Given the description of an element on the screen output the (x, y) to click on. 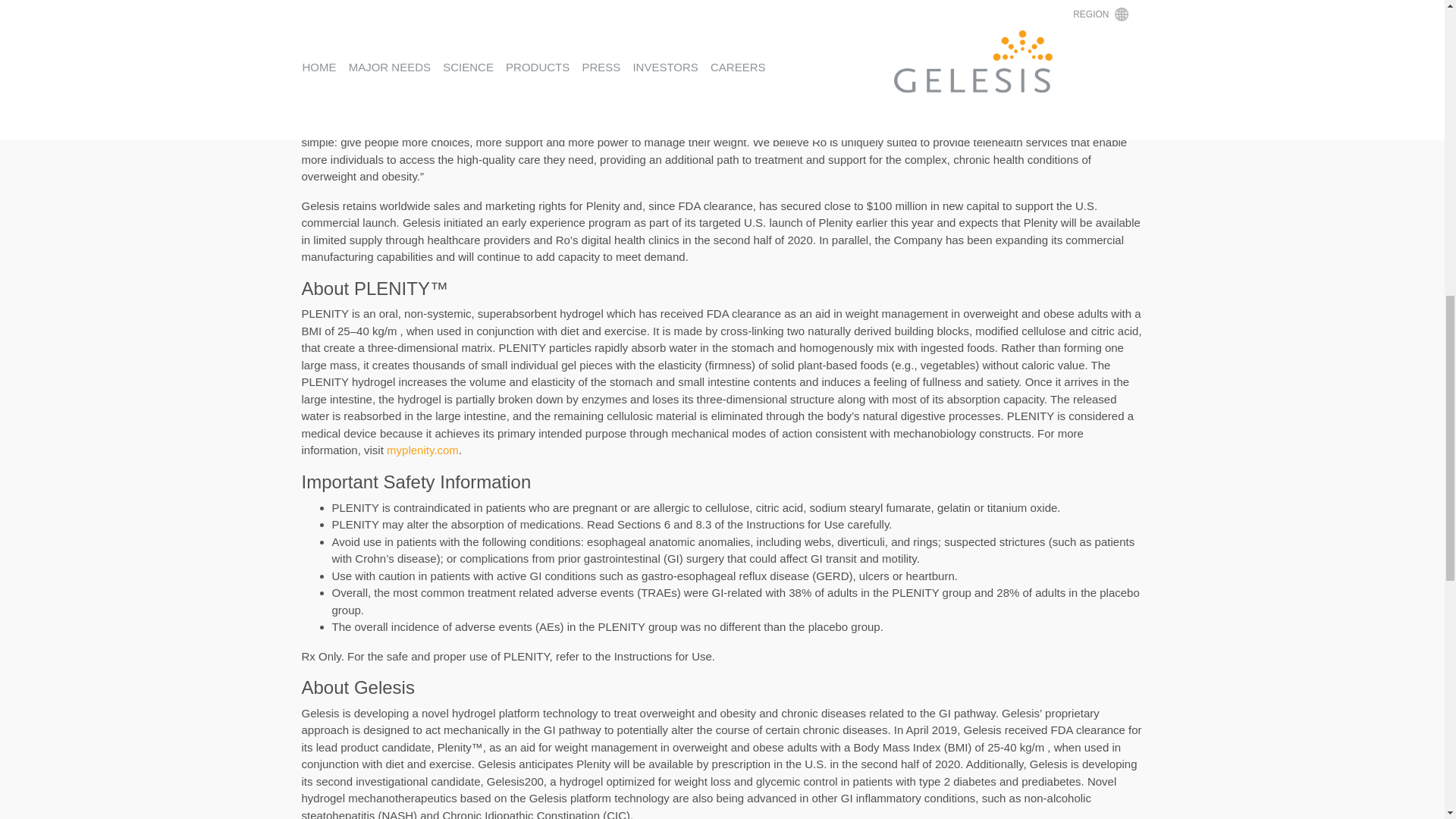
myplenity.com (422, 449)
